Given the description of an element on the screen output the (x, y) to click on. 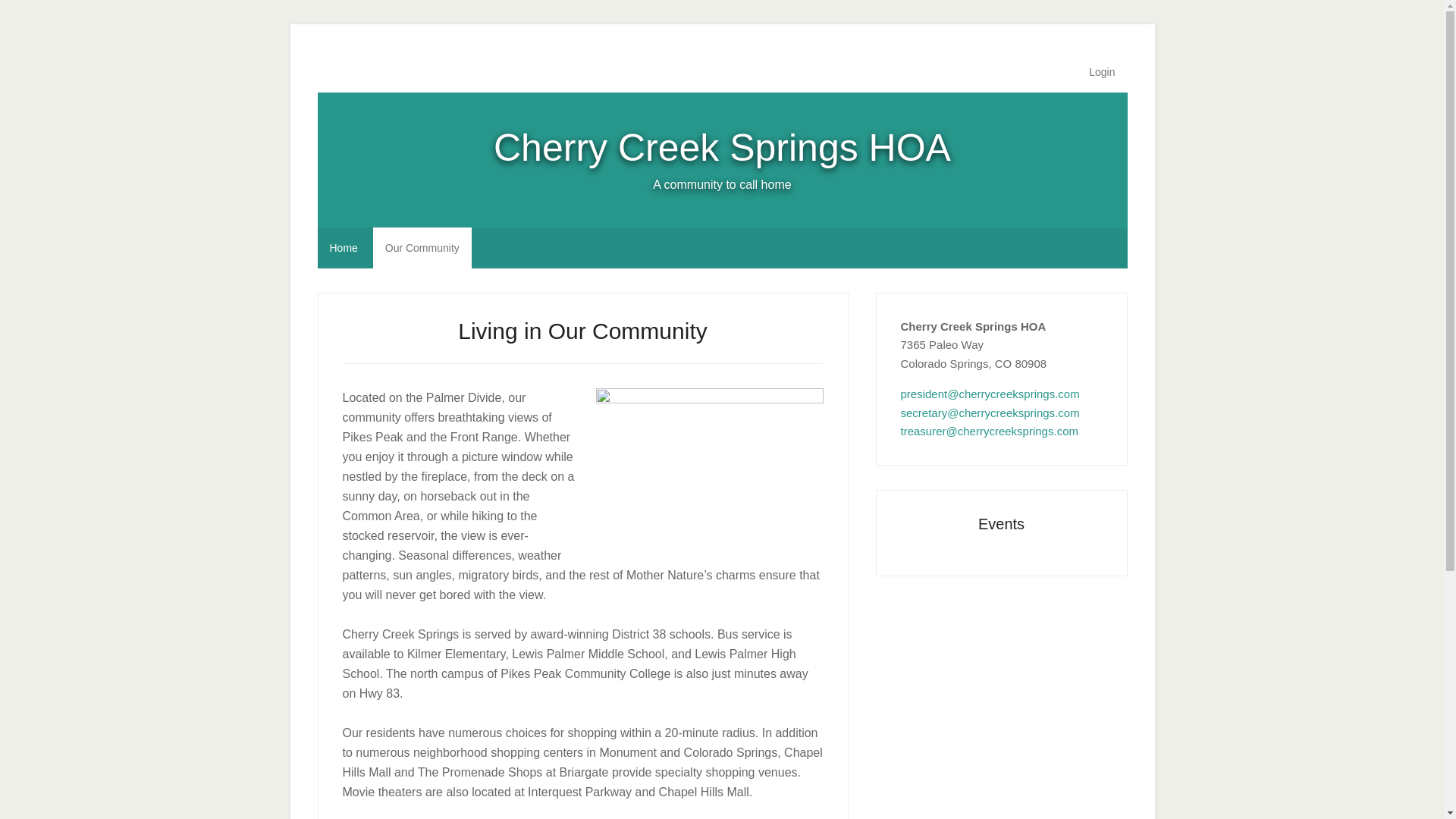
Login (1101, 71)
Cherry Creek Springs HOA (721, 147)
Home (343, 247)
Our Community (421, 247)
